Given the description of an element on the screen output the (x, y) to click on. 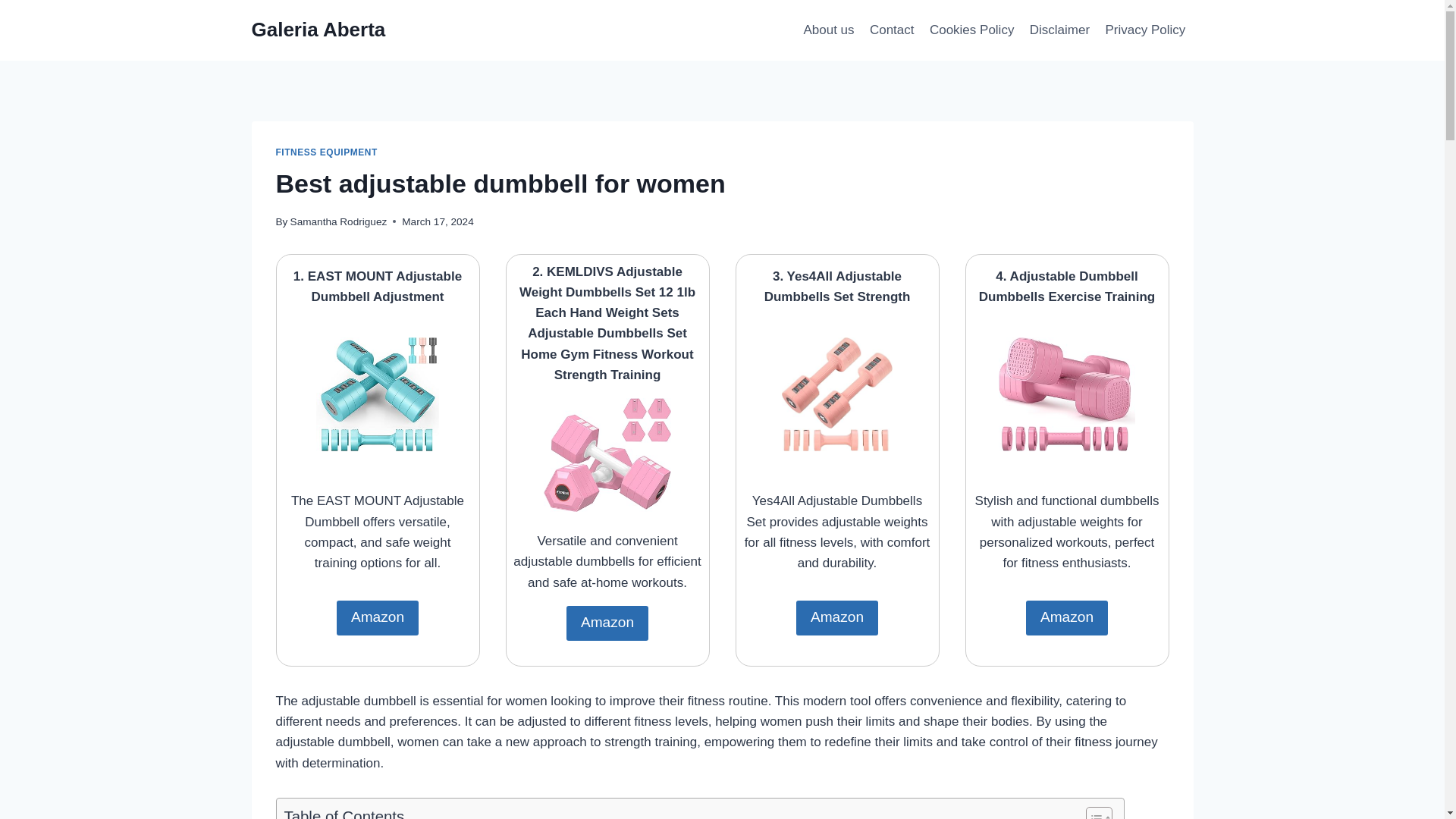
FITNESS EQUIPMENT (326, 152)
Disclaimer (1059, 30)
Amazon (377, 617)
Cookies Policy (971, 30)
Galeria Aberta (318, 29)
Samantha Rodriguez (338, 221)
About us (827, 30)
Privacy Policy (1144, 30)
Amazon (1067, 617)
Contact (891, 30)
